Given the description of an element on the screen output the (x, y) to click on. 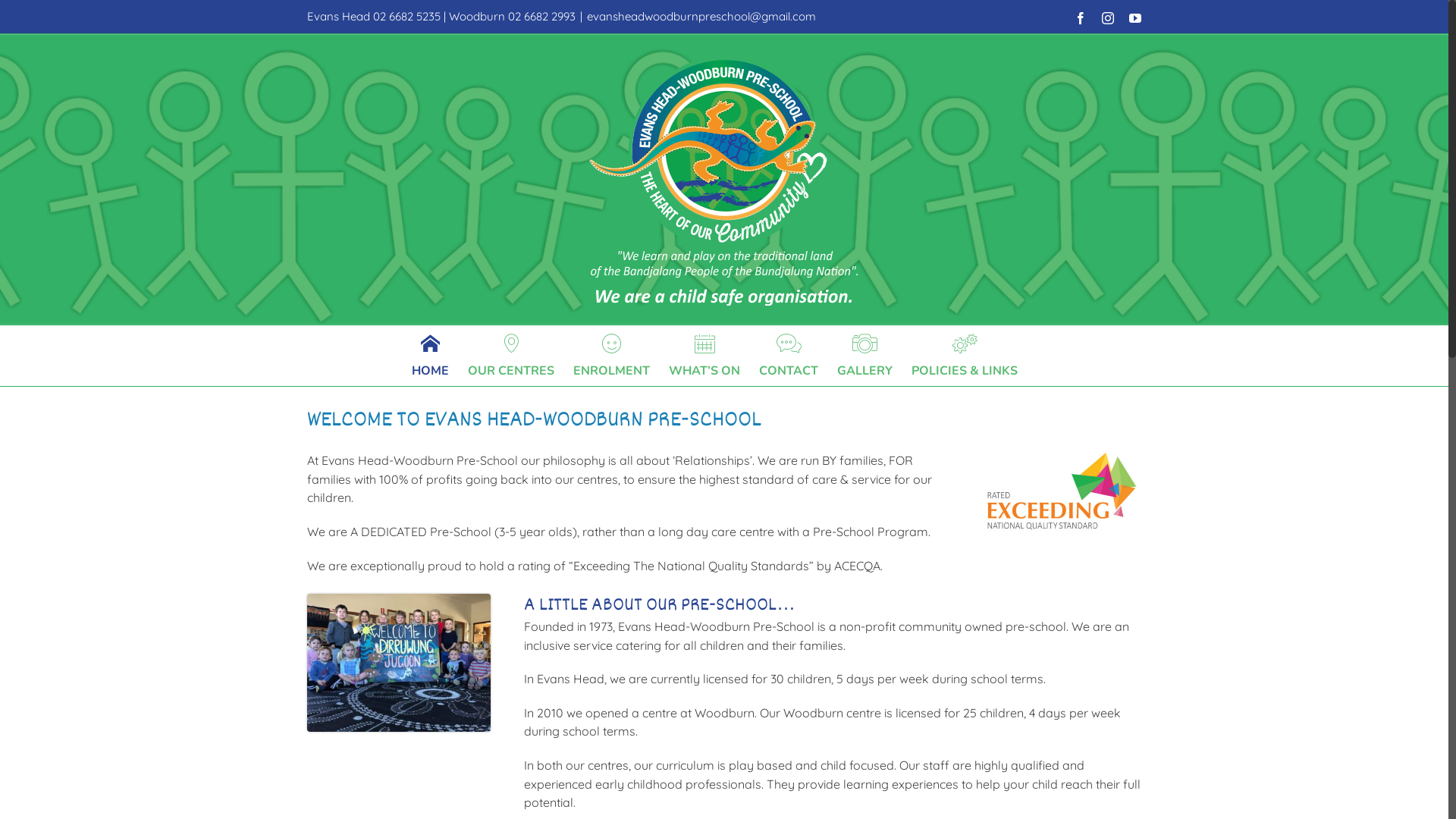
OUR CENTRES Element type: text (510, 355)
HOME Element type: text (429, 355)
Instagram Element type: text (1107, 18)
69445067_10157266601785999_8095095806211653632_n Element type: hover (398, 662)
POLICIES & LINKS Element type: text (964, 355)
Facebook Element type: text (1080, 18)
CONTACT Element type: text (788, 355)
Exceeding 300 RGB Element type: hover (1061, 491)
evansheadwoodburnpreschool@gmail.com Element type: text (700, 16)
YouTube Element type: text (1135, 18)
GALLERY Element type: text (864, 355)
ENROLMENT Element type: text (611, 355)
